Given the description of an element on the screen output the (x, y) to click on. 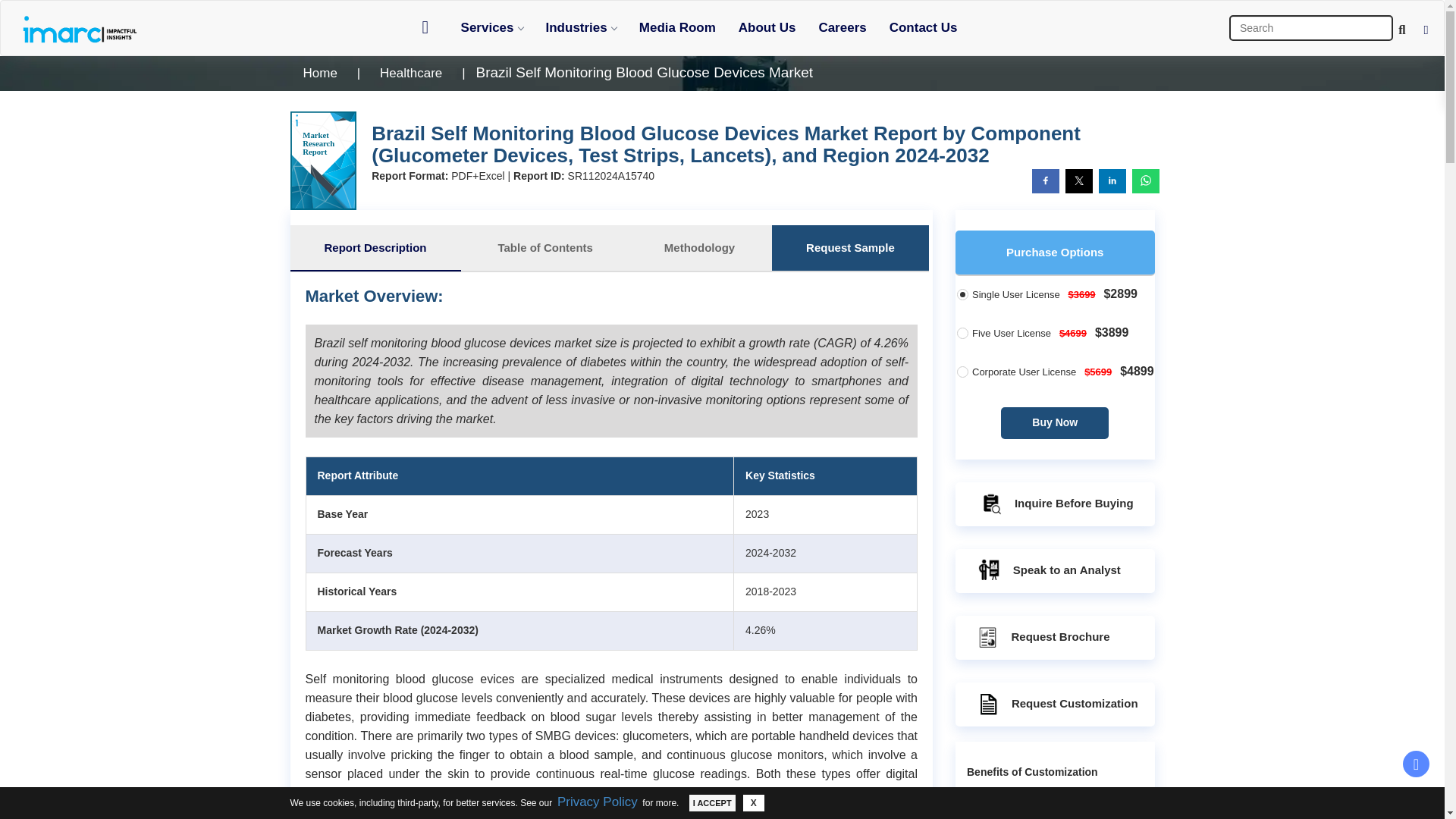
Media Room (676, 27)
Services (491, 27)
About Us (767, 27)
Industries (580, 27)
Contact Us (923, 27)
Careers (841, 27)
